Given the description of an element on the screen output the (x, y) to click on. 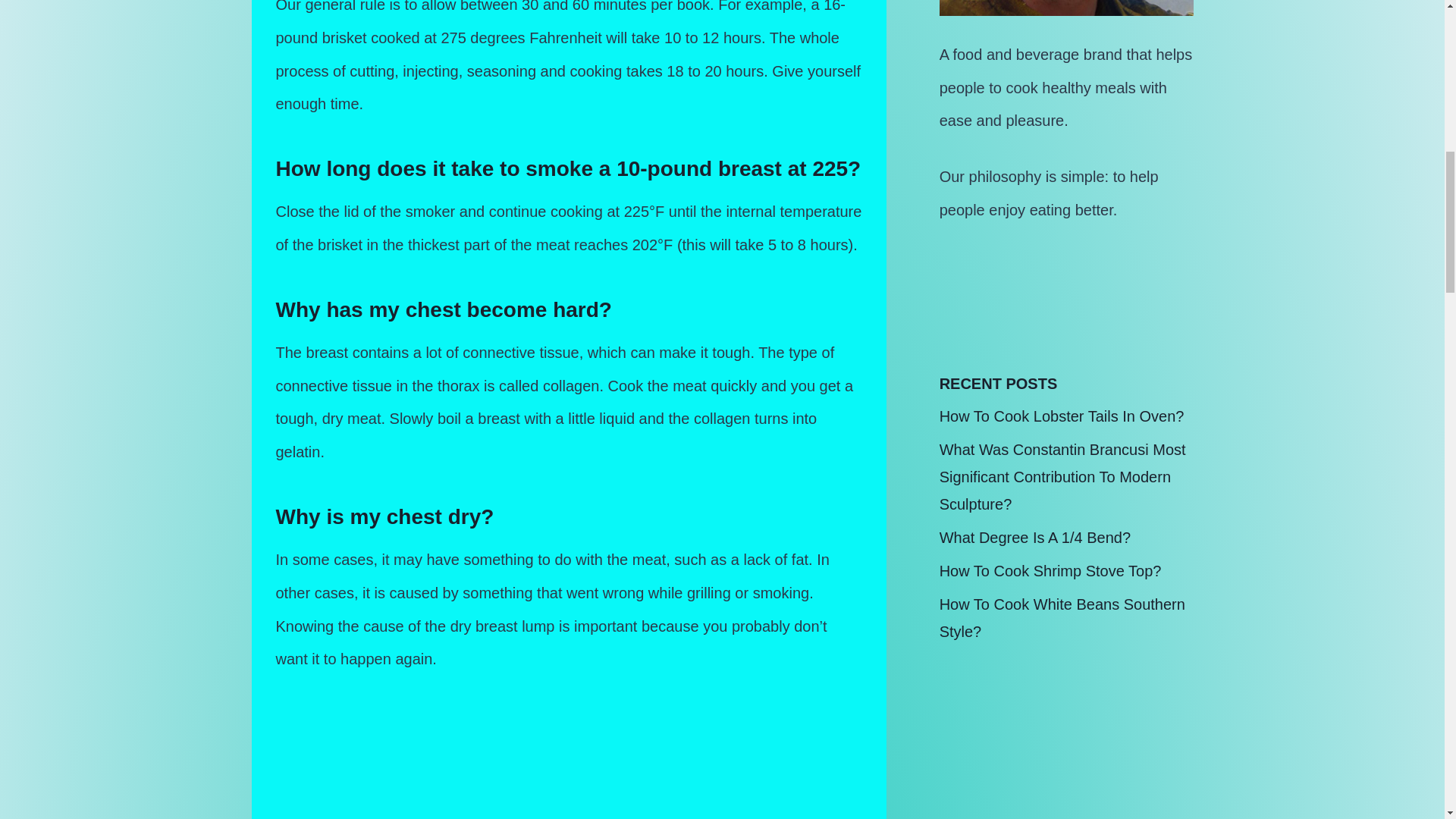
How To Cook White Beans Southern Style? (1062, 617)
How To Cook Lobster Tails In Oven? (1062, 416)
How To Cook Shrimp Stove Top? (1050, 570)
How to Cook BRISKET in the OVEN, Texas Style (568, 760)
